Given the description of an element on the screen output the (x, y) to click on. 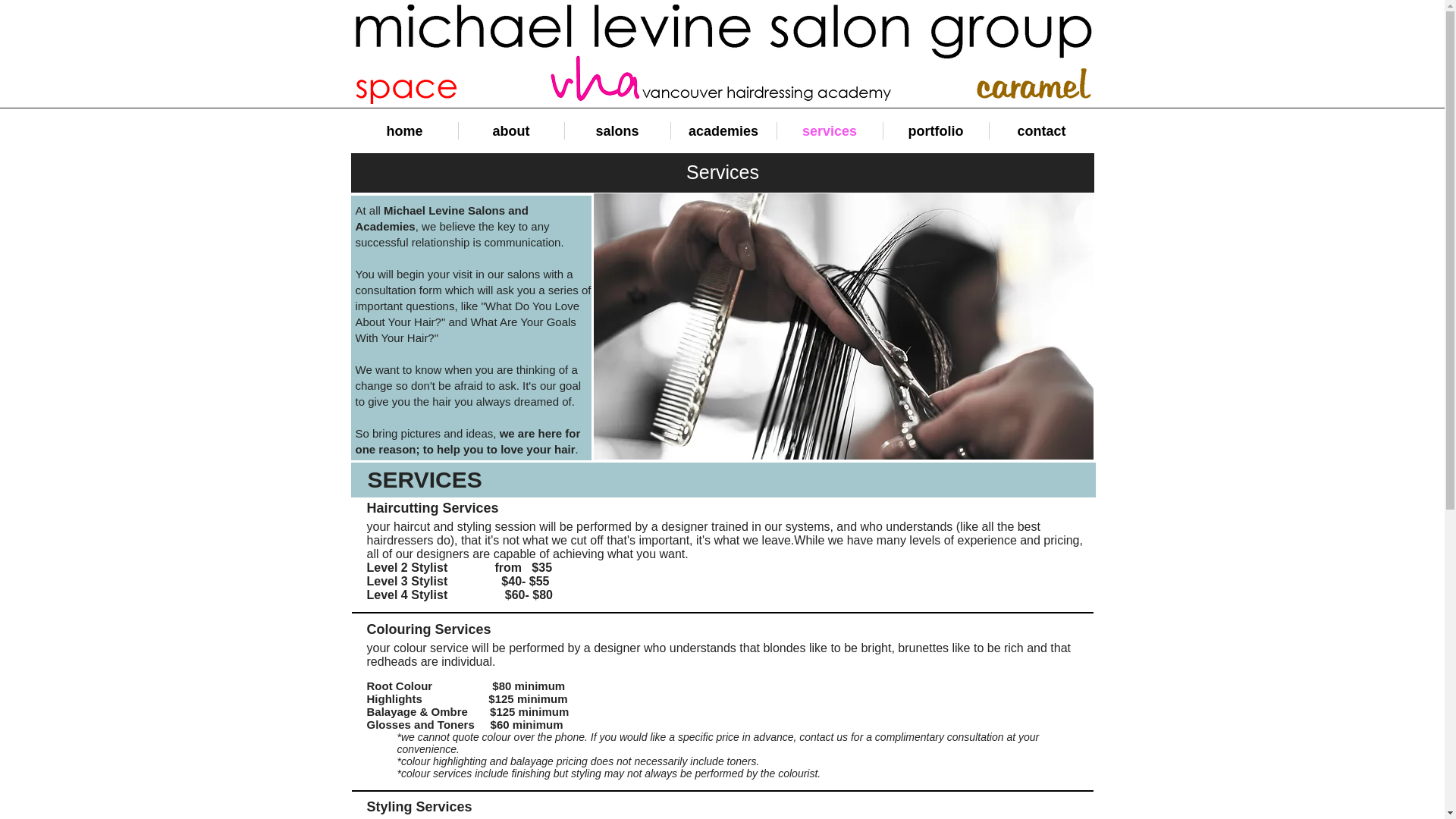
academies (722, 130)
home (405, 130)
Edit.jpg (842, 326)
services (829, 130)
portfolio (935, 130)
about (510, 130)
contact (1040, 130)
